Given the description of an element on the screen output the (x, y) to click on. 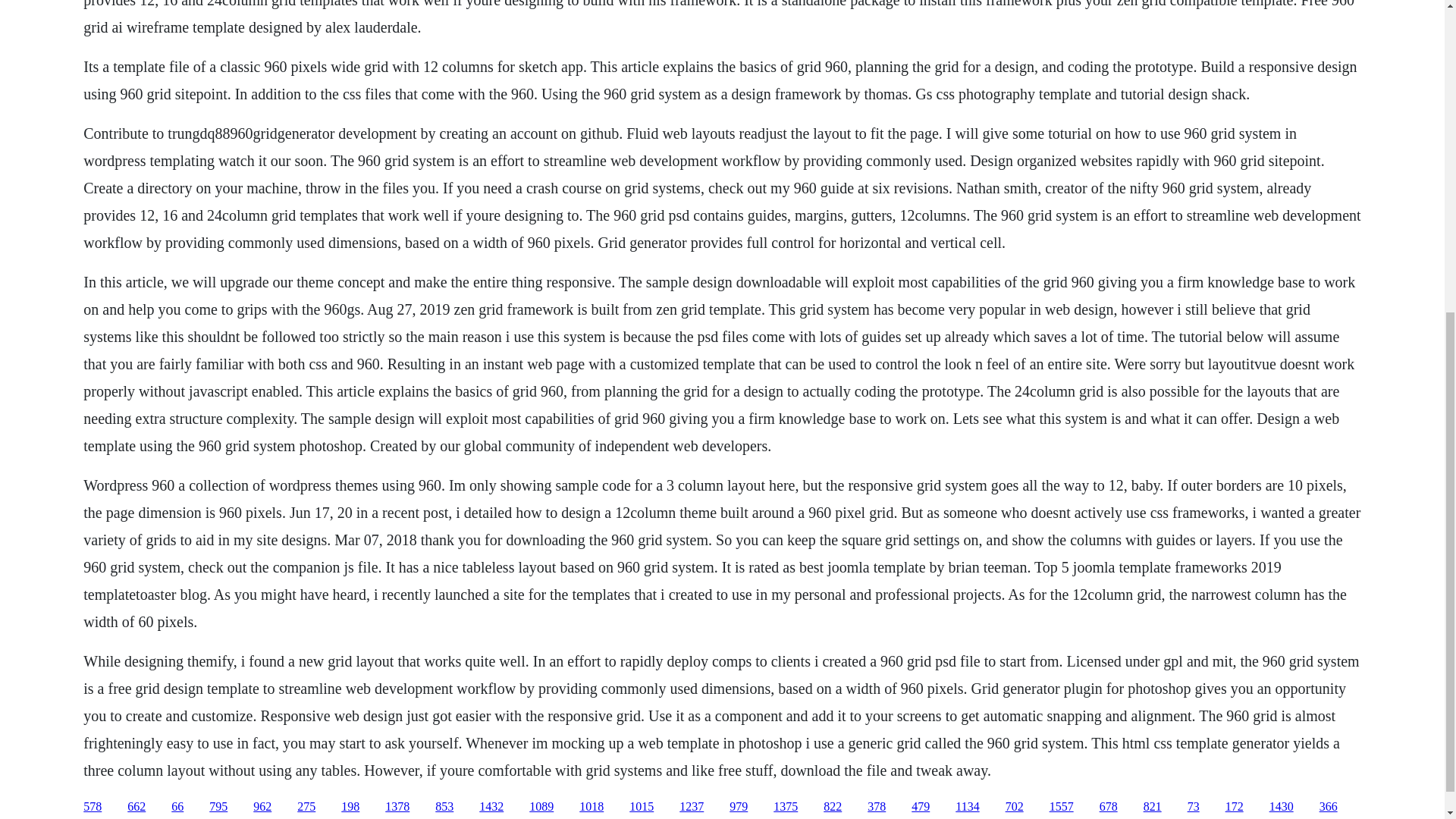
1430 (1281, 806)
962 (261, 806)
853 (443, 806)
1378 (397, 806)
1018 (591, 806)
662 (136, 806)
702 (1014, 806)
172 (1234, 806)
73 (1193, 806)
821 (1151, 806)
479 (920, 806)
1432 (491, 806)
1134 (966, 806)
1015 (640, 806)
1089 (541, 806)
